Given the description of an element on the screen output the (x, y) to click on. 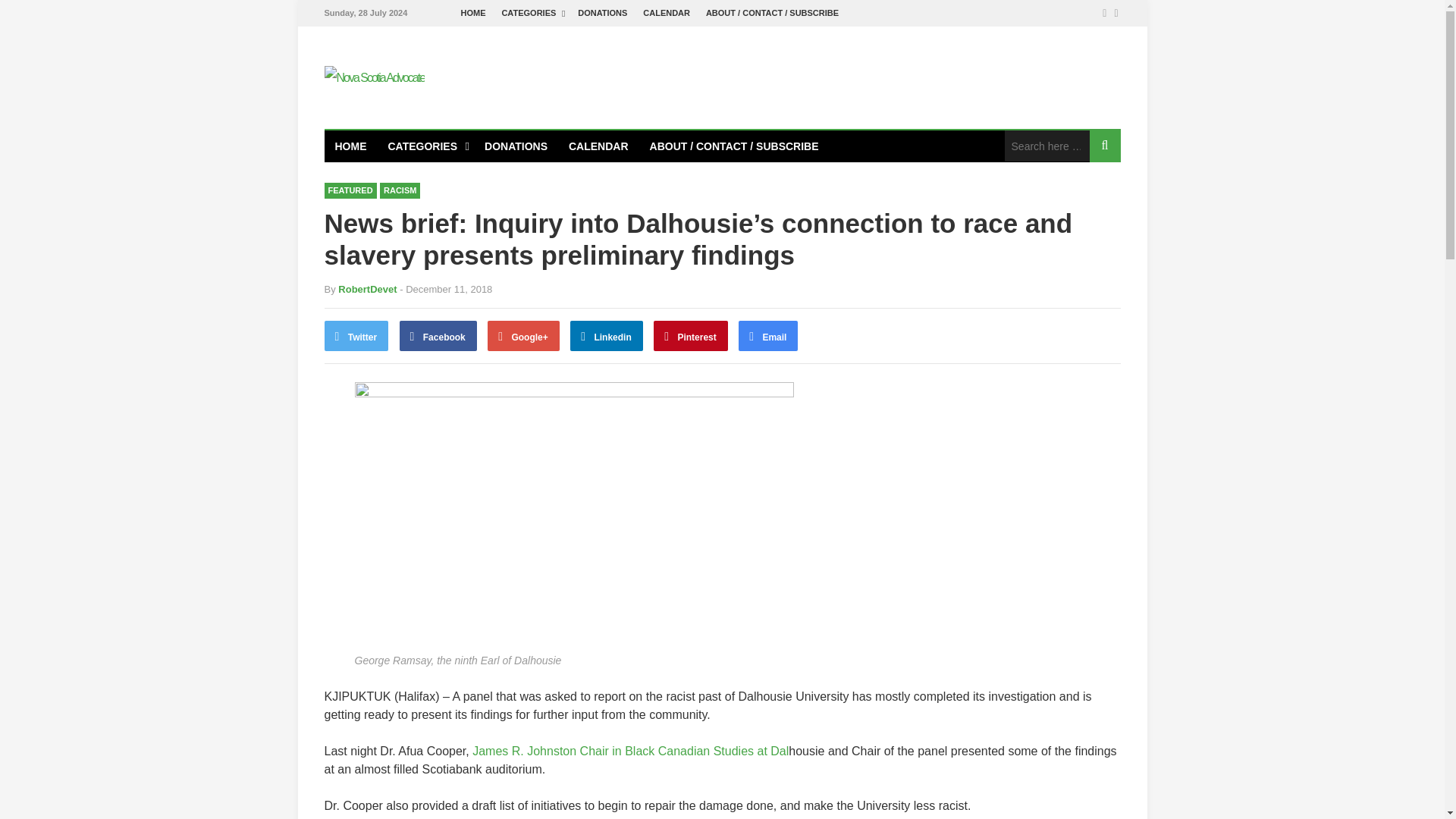
HOME (473, 13)
DONATIONS (602, 13)
Search for: (1046, 145)
CALENDAR (666, 13)
Tuesday, December 11, 2018, 12:33 pm (445, 288)
CATEGORIES (531, 13)
